Given the description of an element on the screen output the (x, y) to click on. 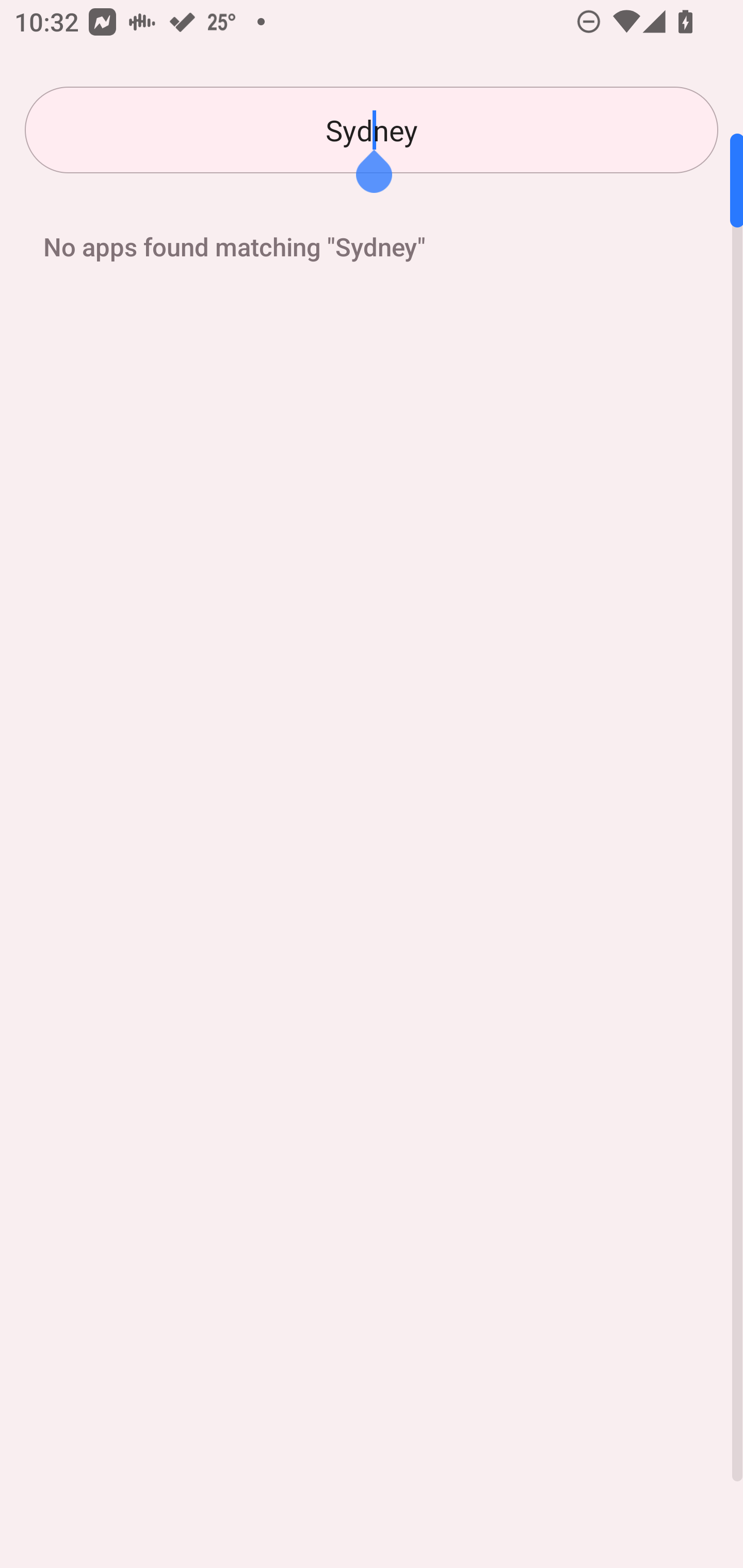
Sydney (371, 130)
